Given the description of an element on the screen output the (x, y) to click on. 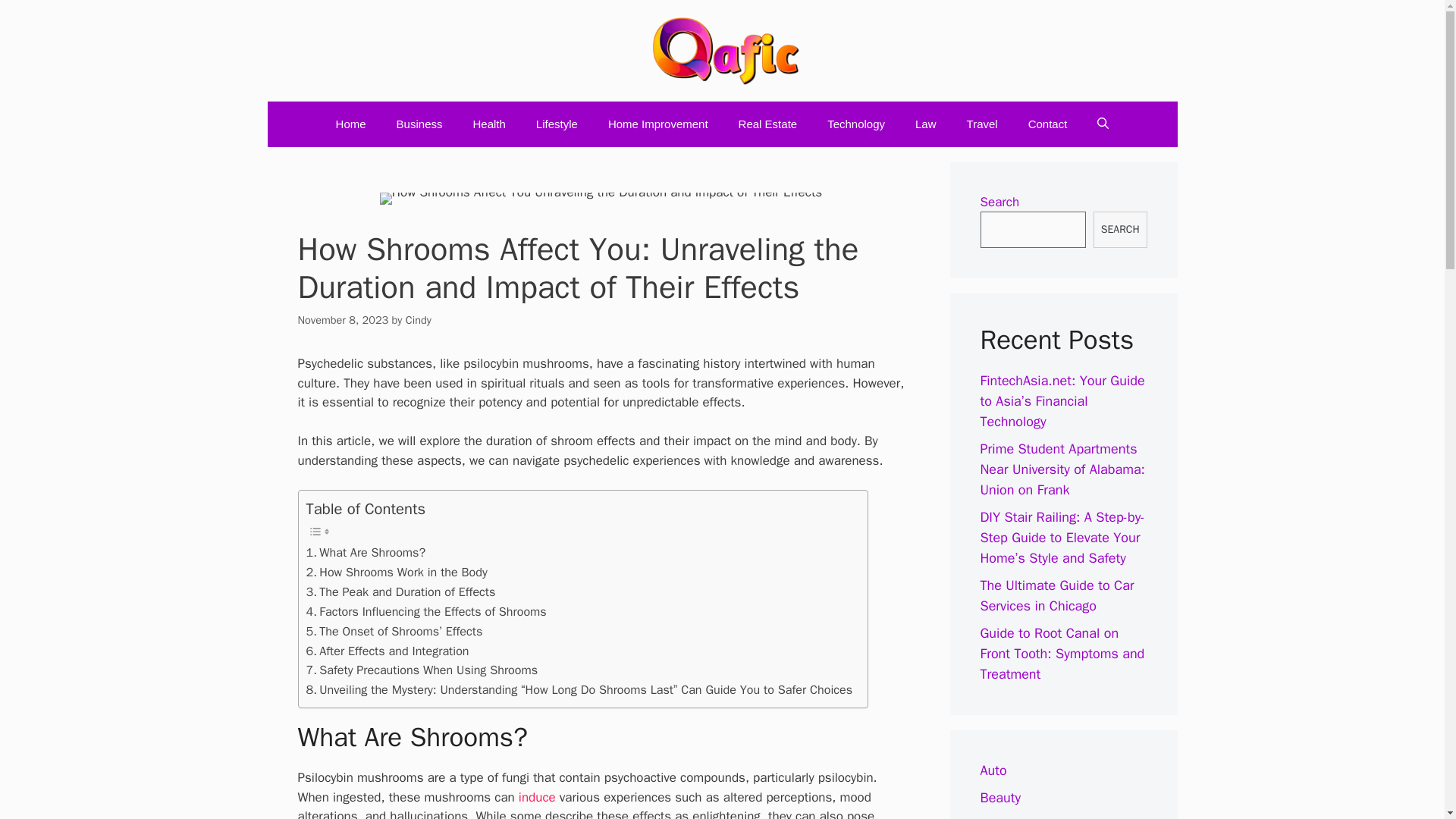
Beauty (999, 797)
Home Improvement (657, 124)
Contact (1048, 124)
Technology (855, 124)
What Are Shrooms? (365, 552)
Travel (982, 124)
After Effects and Integration (386, 650)
Guide to Root Canal on Front Tooth: Symptoms and Treatment (1061, 653)
Lifestyle (556, 124)
Factors Influencing the Effects of Shrooms (426, 611)
View all posts by Cindy (418, 319)
Business (1007, 817)
Business (419, 124)
The Peak and Duration of Effects (400, 591)
